Given the description of an element on the screen output the (x, y) to click on. 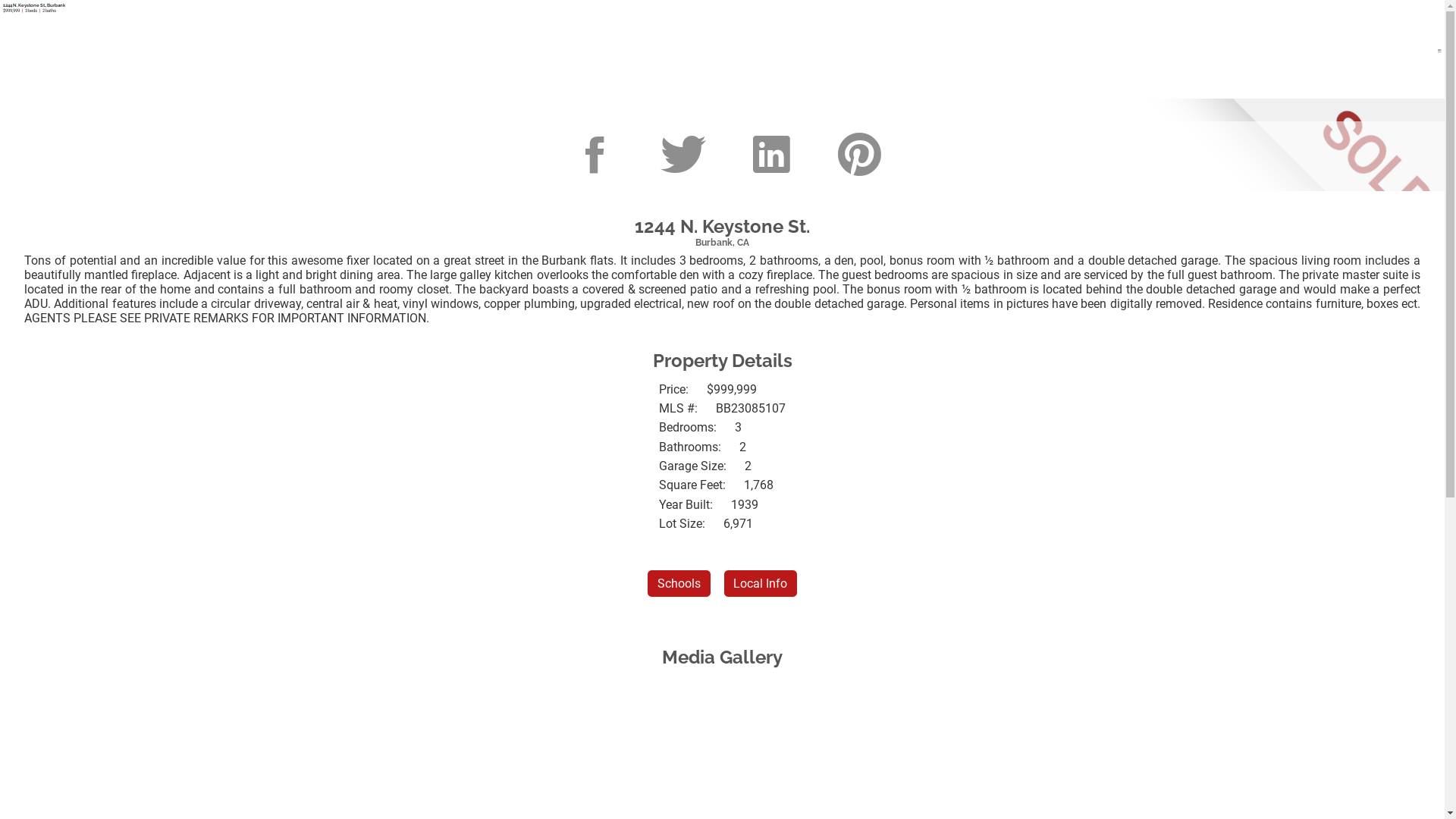
Local Info Element type: text (760, 583)
Schools Element type: text (678, 583)
